Given the description of an element on the screen output the (x, y) to click on. 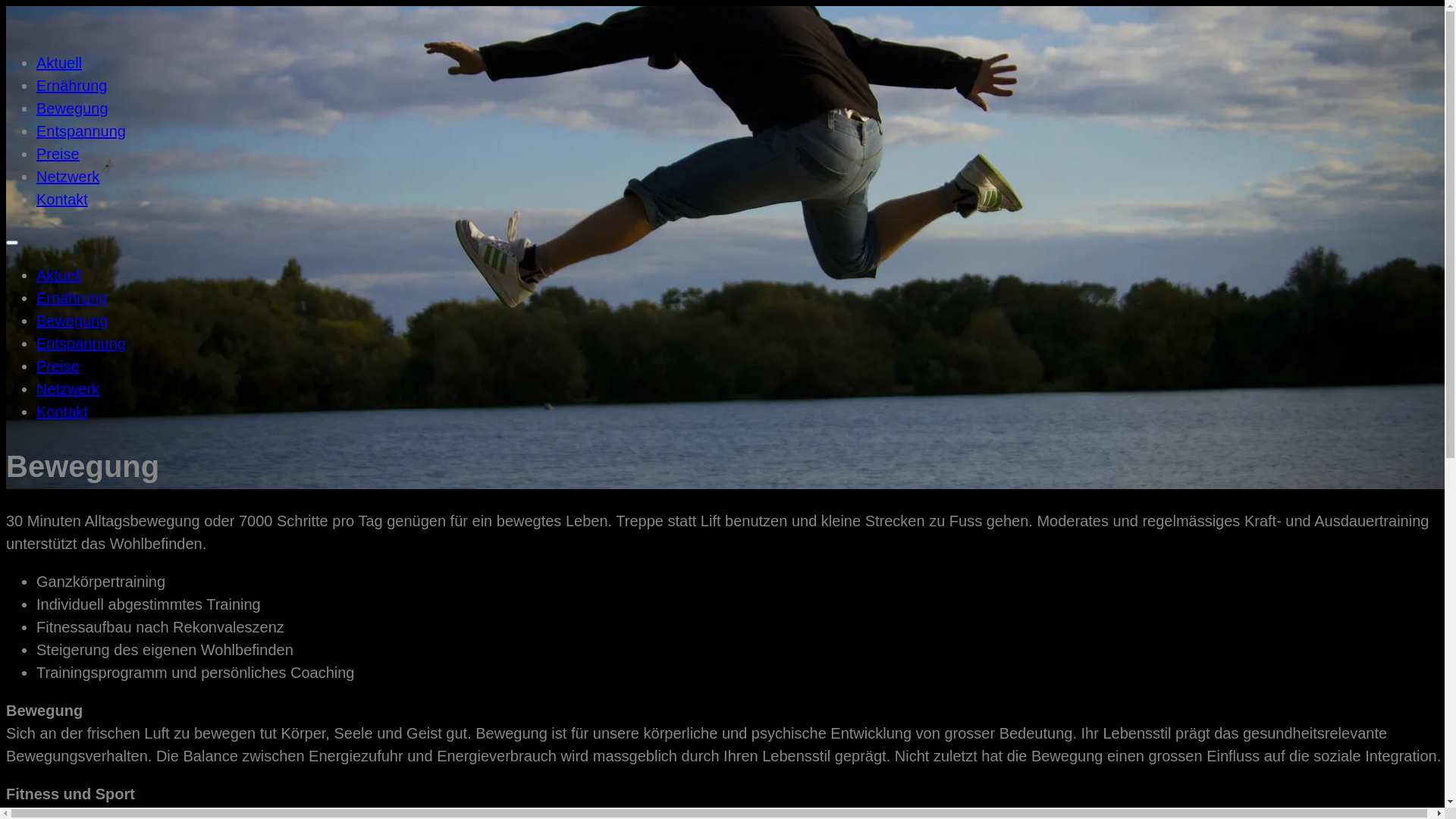
Entspannung Element type: text (80, 130)
Preise Element type: text (57, 365)
Preise Element type: text (57, 153)
Bewegung Element type: text (72, 108)
Kontakt Element type: text (61, 199)
Kontakt Element type: text (61, 411)
Netzwerk Element type: text (67, 176)
Netzwerk Element type: text (67, 388)
Entspannung Element type: text (80, 343)
Aktuell Element type: text (58, 274)
Bewegung Element type: text (72, 320)
Aktuell Element type: text (58, 62)
